Given the description of an element on the screen output the (x, y) to click on. 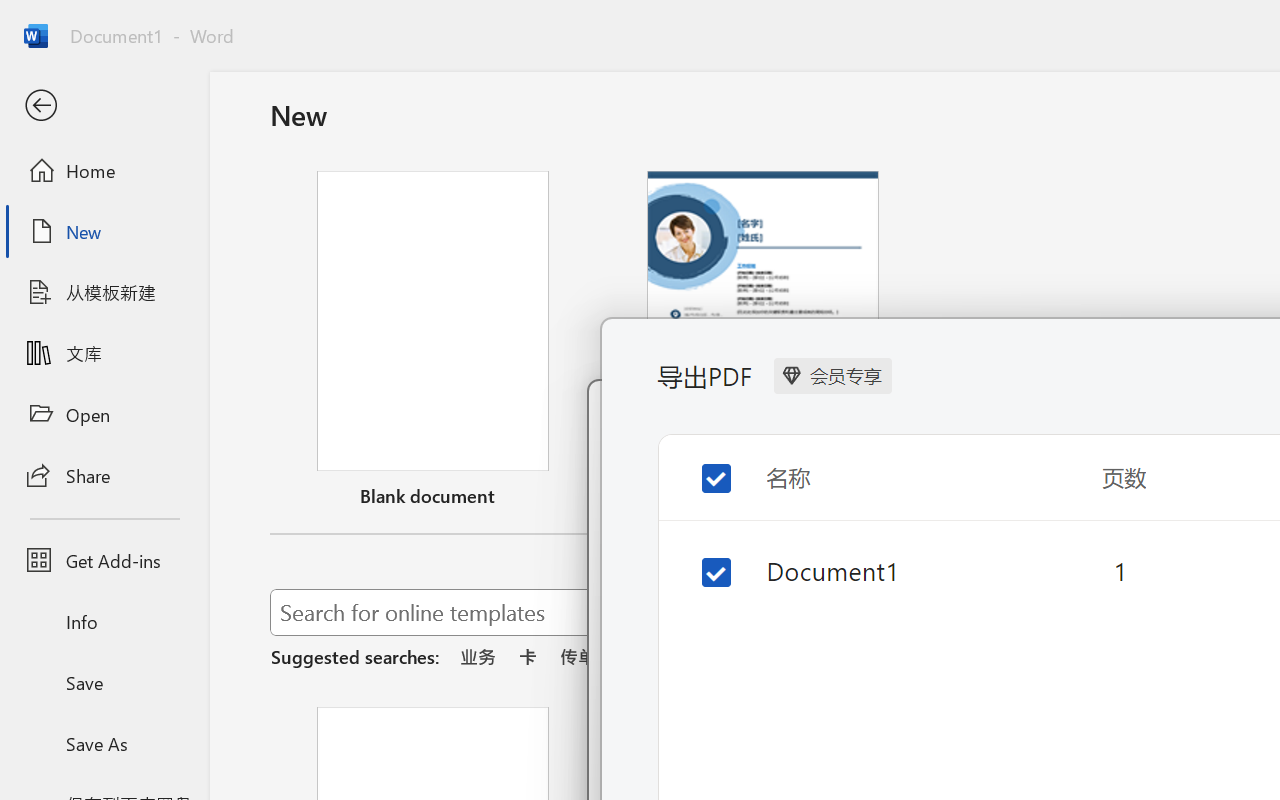
New (104, 231)
Toggle selection for all items (699, 462)
Blank document (433, 343)
select row (699, 557)
Save As (104, 743)
select row (699, 568)
Get Add-ins (104, 560)
